Given the description of an element on the screen output the (x, y) to click on. 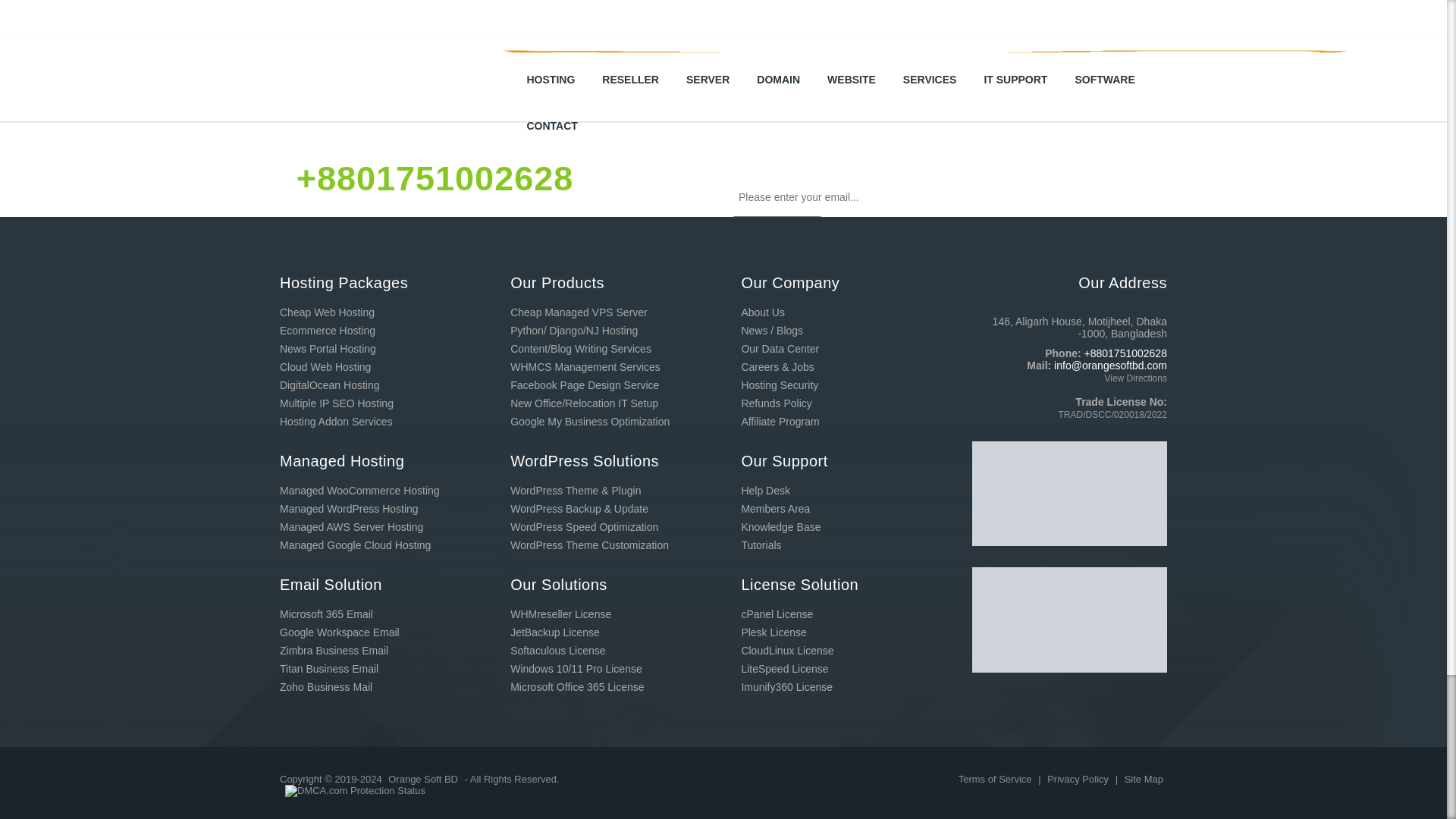
Sign Up (777, 234)
